Given the description of an element on the screen output the (x, y) to click on. 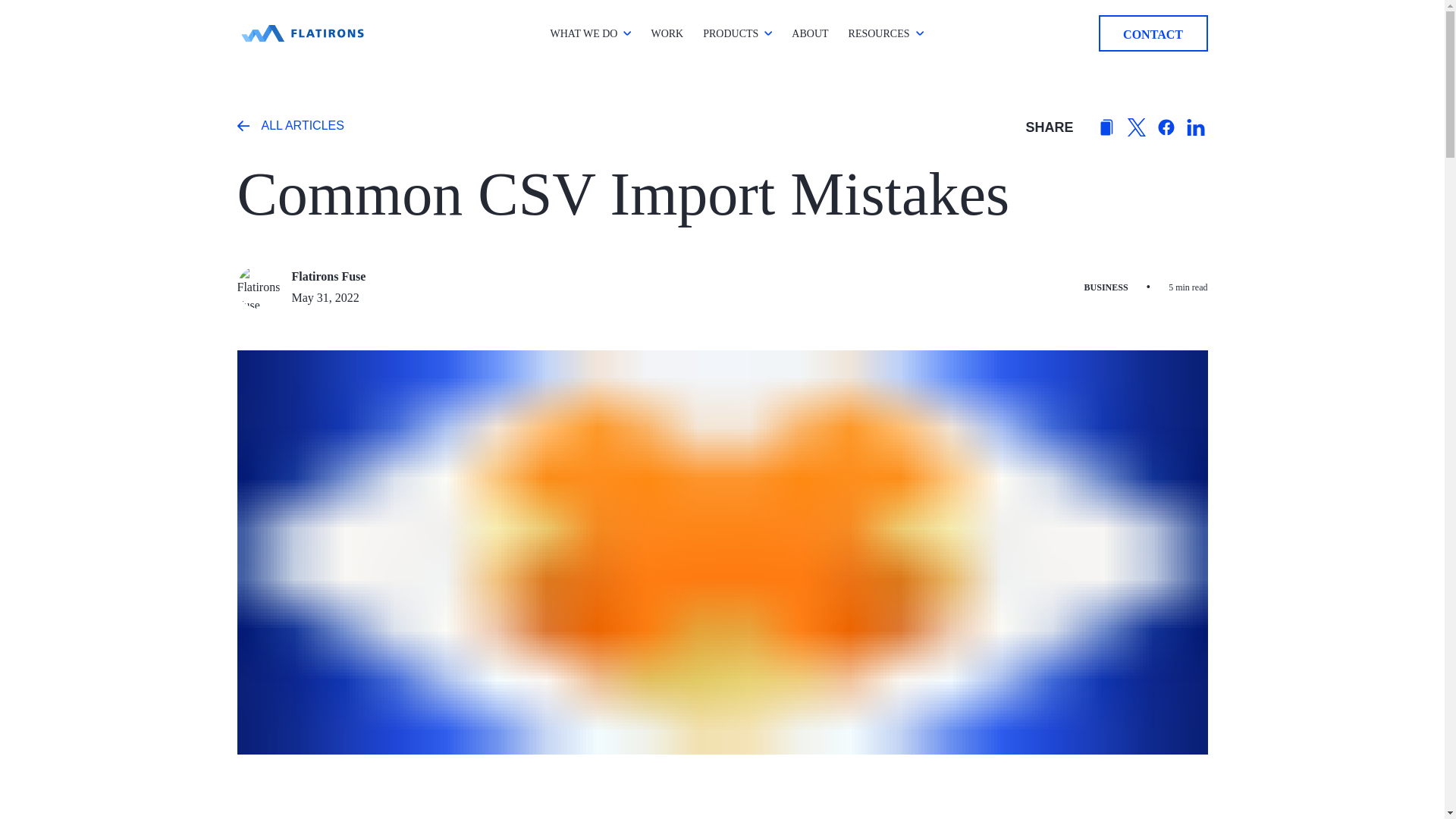
ABOUT (810, 33)
flatirons-logo (300, 33)
WHAT WE DO (583, 33)
WORK (666, 33)
ALL ARTICLES (289, 127)
PRODUCTS (730, 33)
RESOURCES (879, 33)
